Given the description of an element on the screen output the (x, y) to click on. 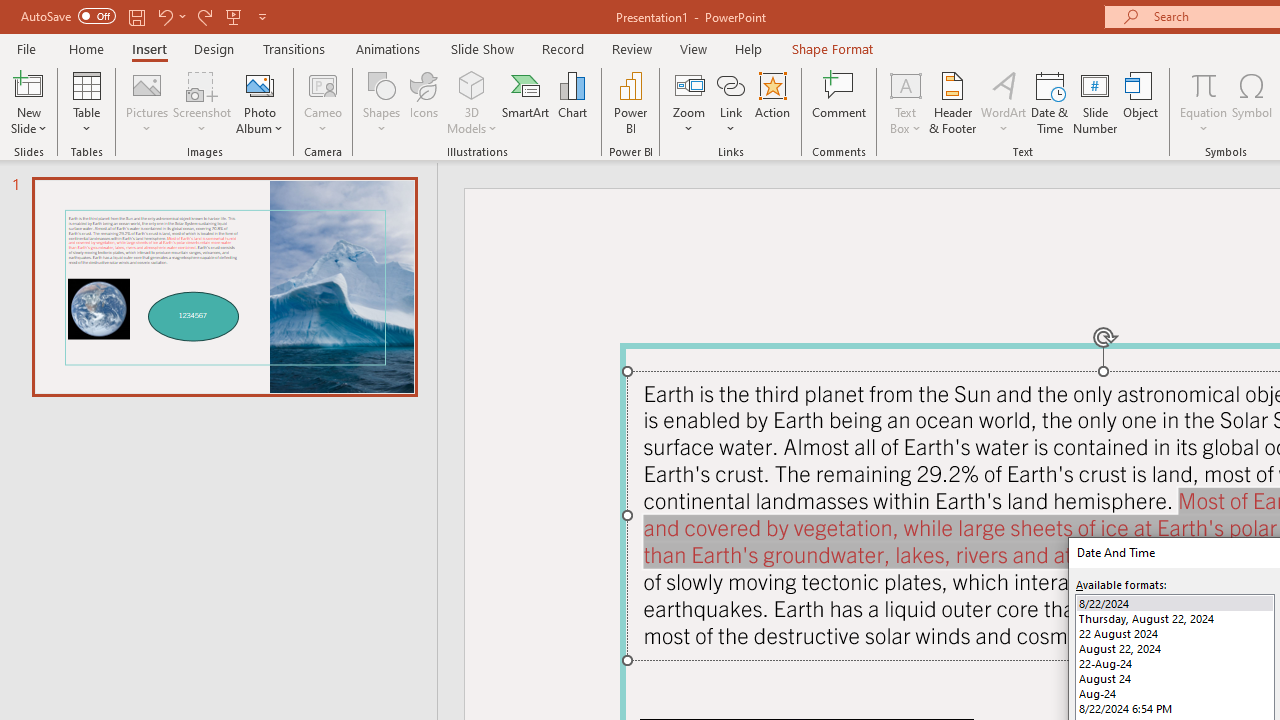
Power BI (630, 102)
August 24 (1174, 678)
WordArt (1004, 102)
Pictures (147, 102)
Chart... (572, 102)
3D Models (472, 102)
Table (86, 102)
